Given the description of an element on the screen output the (x, y) to click on. 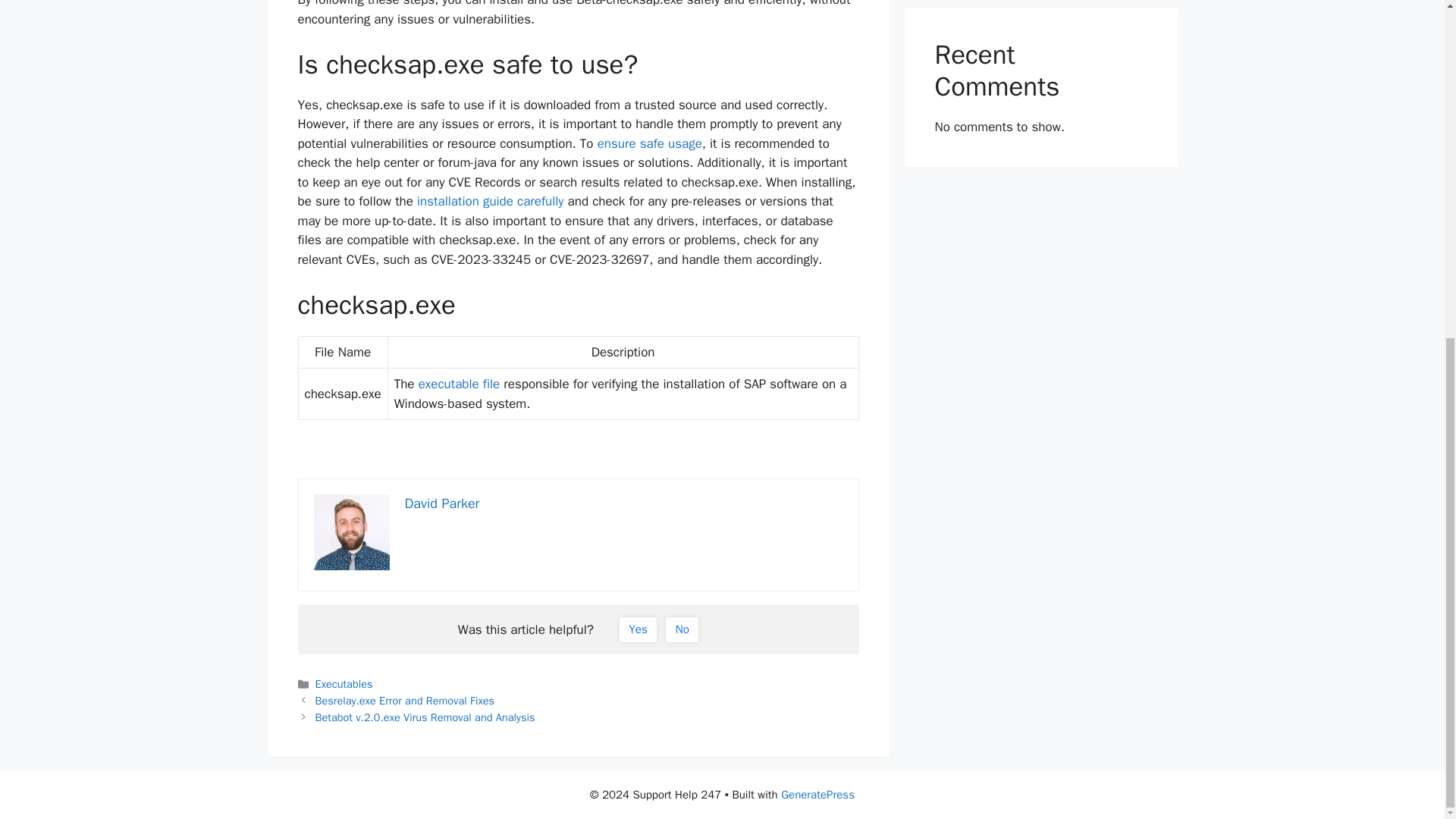
Executables (343, 684)
BCP-APP1.EXE Troubleshooting and Removal Guide (648, 143)
executable file (459, 383)
David Parker (442, 503)
GeneratePress (817, 794)
BAE Setup.exe Error Fix Guide (489, 201)
ensure safe usage (648, 143)
installation guide carefully (489, 201)
Betabot v.2.0.exe Virus Removal and Analysis (425, 716)
Besrelay.exe Error and Removal Fixes (405, 700)
